Given the description of an element on the screen output the (x, y) to click on. 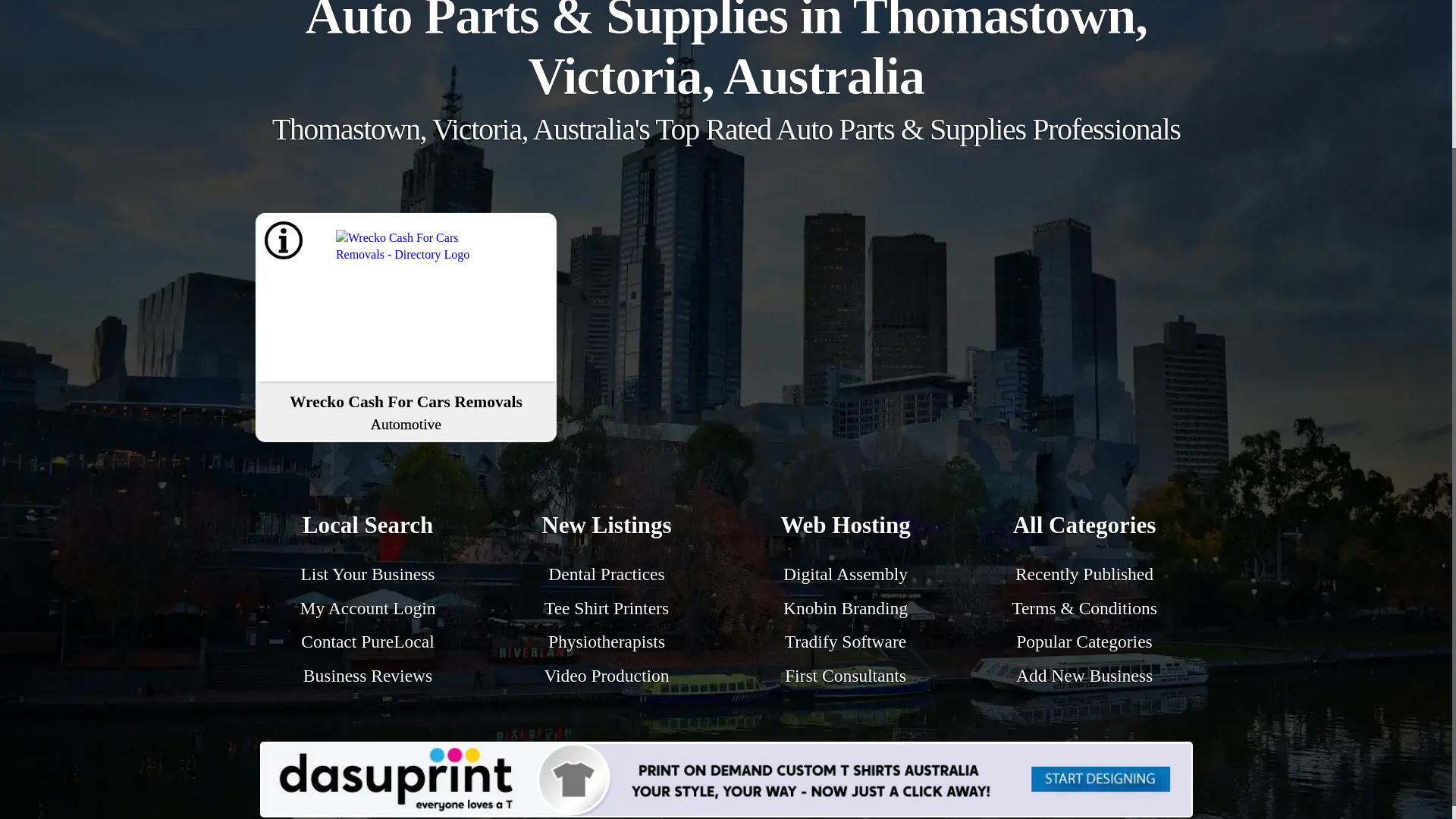
Popular Categories (1083, 641)
Digital Assembly (845, 573)
Knobin Branding (845, 608)
Recently Published (1083, 573)
Physiotherapists (606, 641)
New Listings (606, 527)
Video Production (605, 675)
My Account Login (367, 608)
List Your Business (368, 573)
Add New Business (1084, 675)
